Given the description of an element on the screen output the (x, y) to click on. 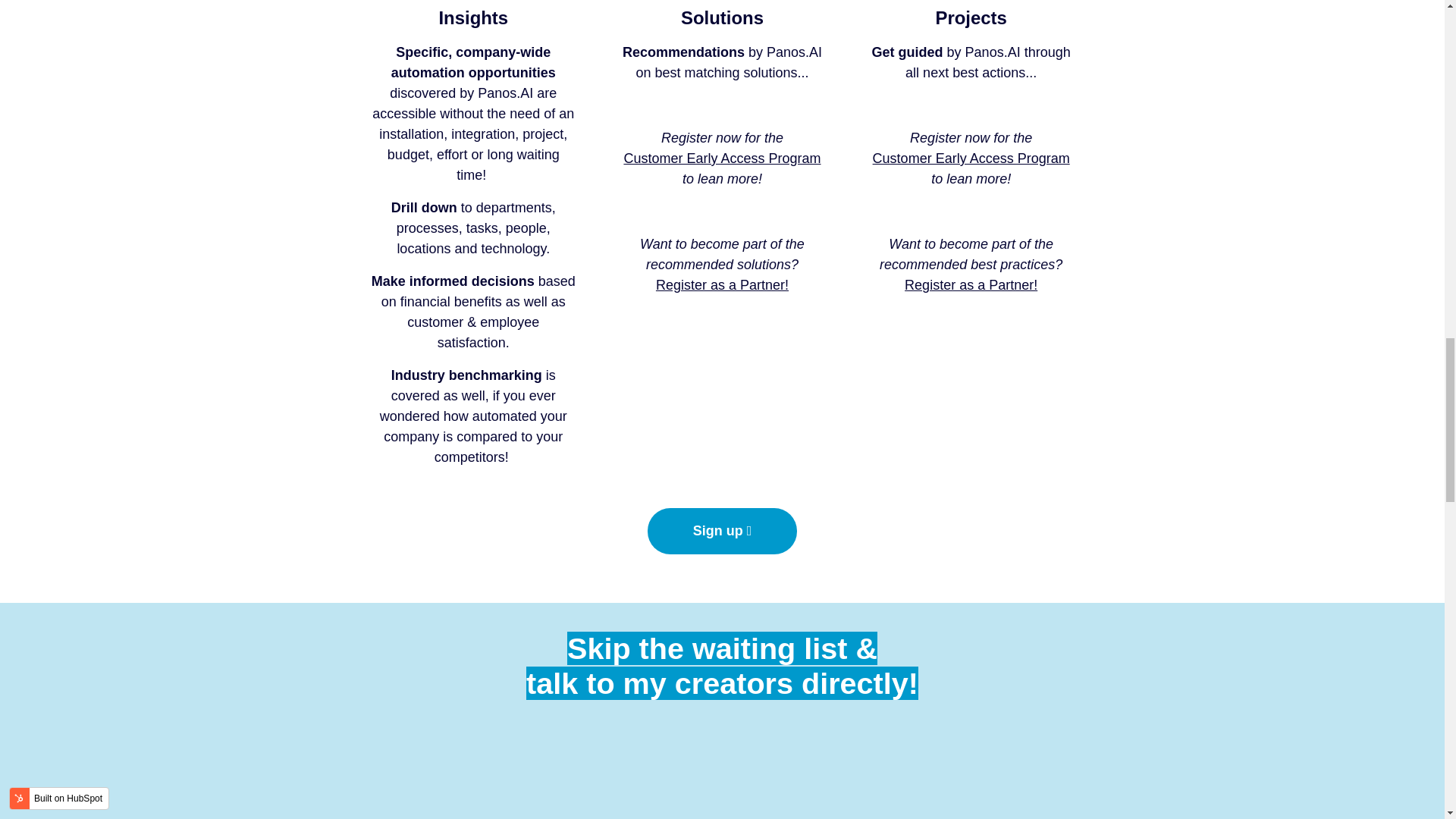
Customer Early Access Program (971, 158)
Register as a Partner! (722, 284)
Customer Early Access Program (722, 158)
Register as a Partner! (970, 284)
